Given the description of an element on the screen output the (x, y) to click on. 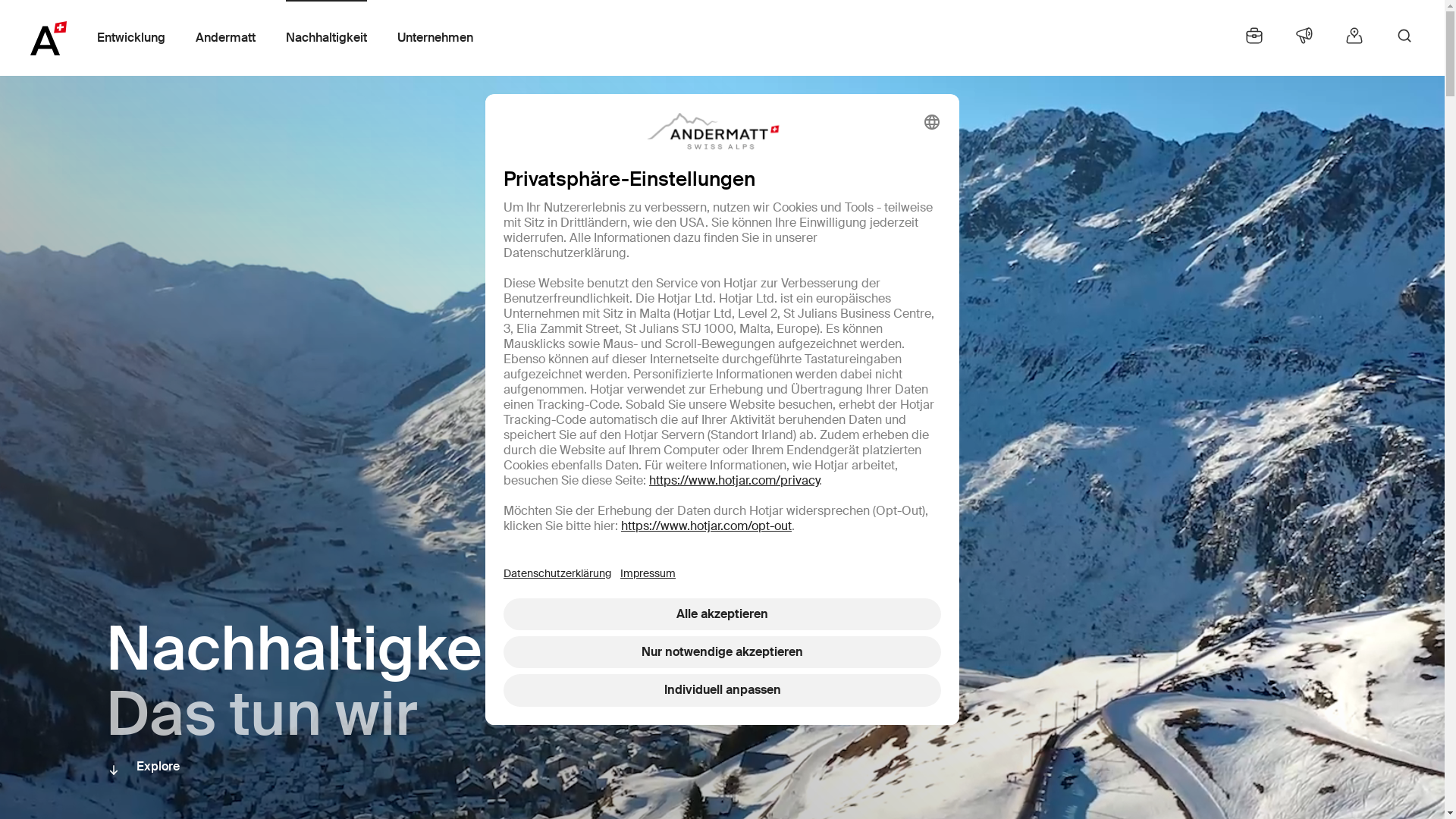
Entwicklung Element type: text (131, 37)
Andermatt Element type: text (225, 37)
Unternehmen Element type: text (435, 37)
Nachhaltigkeit Element type: text (326, 37)
